Given the description of an element on the screen output the (x, y) to click on. 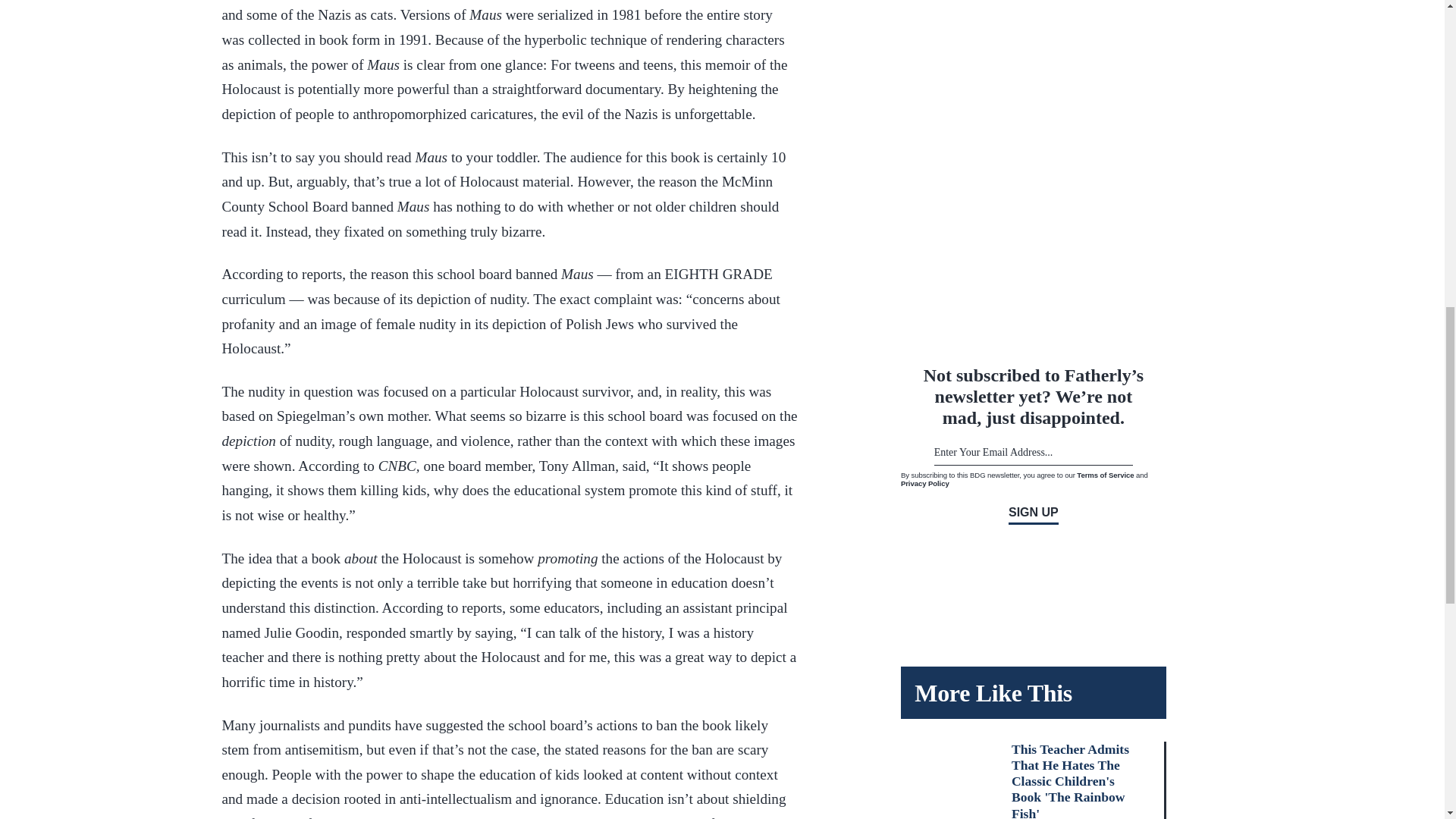
Privacy Policy (925, 482)
SIGN UP (1033, 513)
Terms of Service (1105, 473)
